Given the description of an element on the screen output the (x, y) to click on. 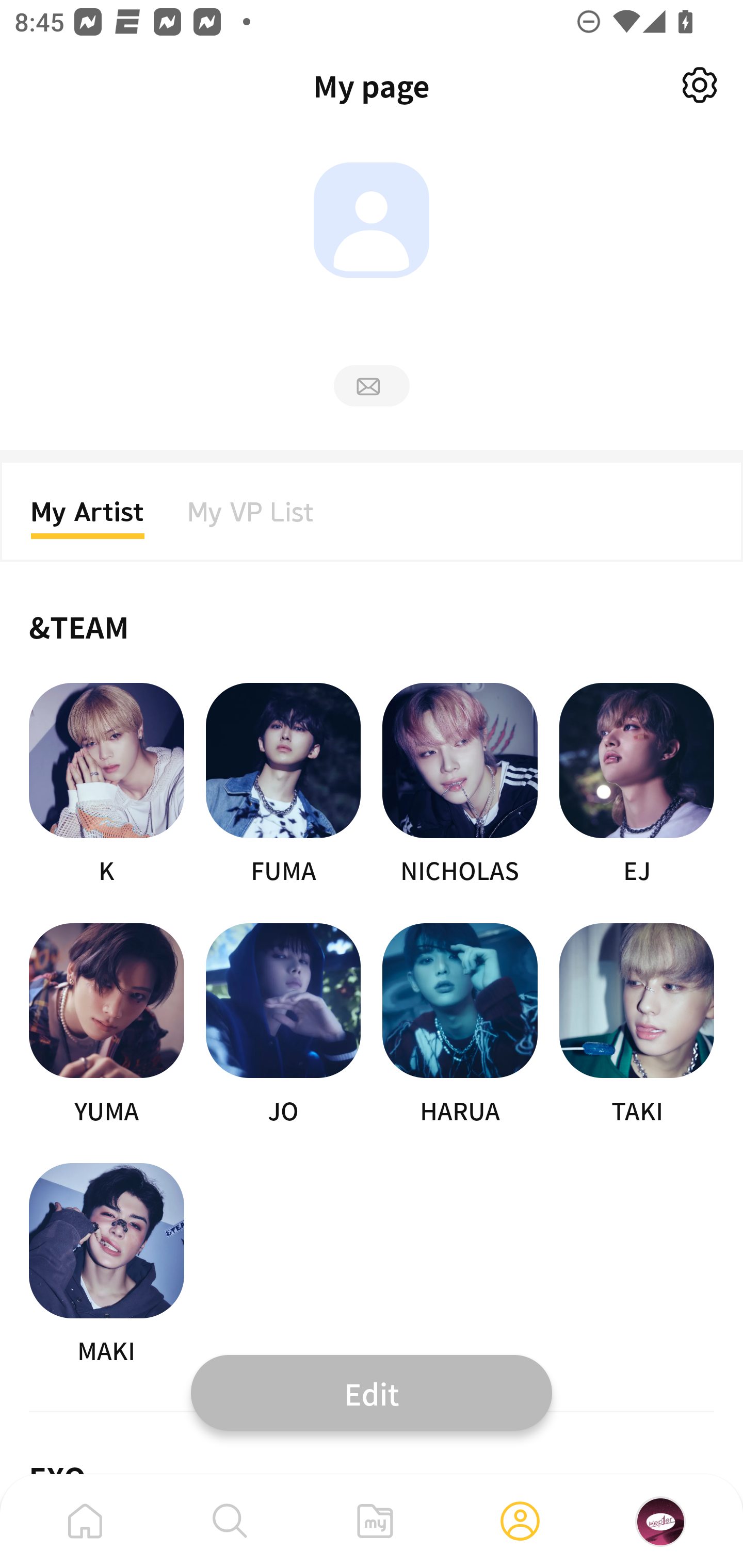
My Artist (87, 517)
My VP List (250, 517)
K (106, 785)
FUMA (282, 785)
NICHOLAS (459, 785)
EJ (636, 785)
YUMA (106, 1025)
JO (282, 1025)
HARUA (459, 1025)
TAKI (636, 1025)
MAKI (106, 1265)
Edit (371, 1392)
